Given the description of an element on the screen output the (x, y) to click on. 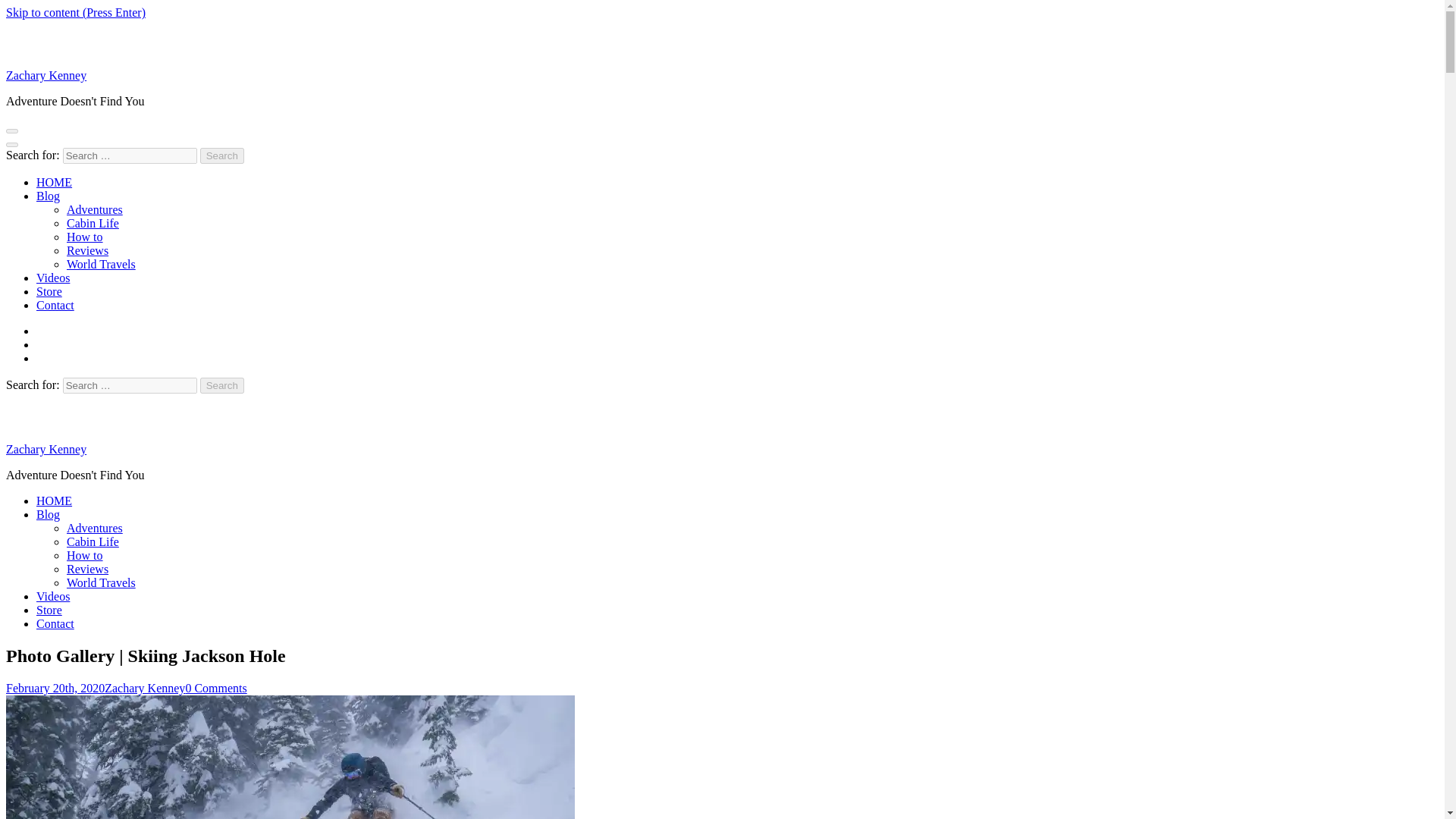
World Travels (100, 582)
0 Comments (215, 687)
Videos (52, 277)
Search (222, 385)
Cabin Life (92, 541)
Blog (47, 195)
Search (222, 385)
Reviews (86, 250)
Adventures (94, 527)
HOME (53, 182)
